Given the description of an element on the screen output the (x, y) to click on. 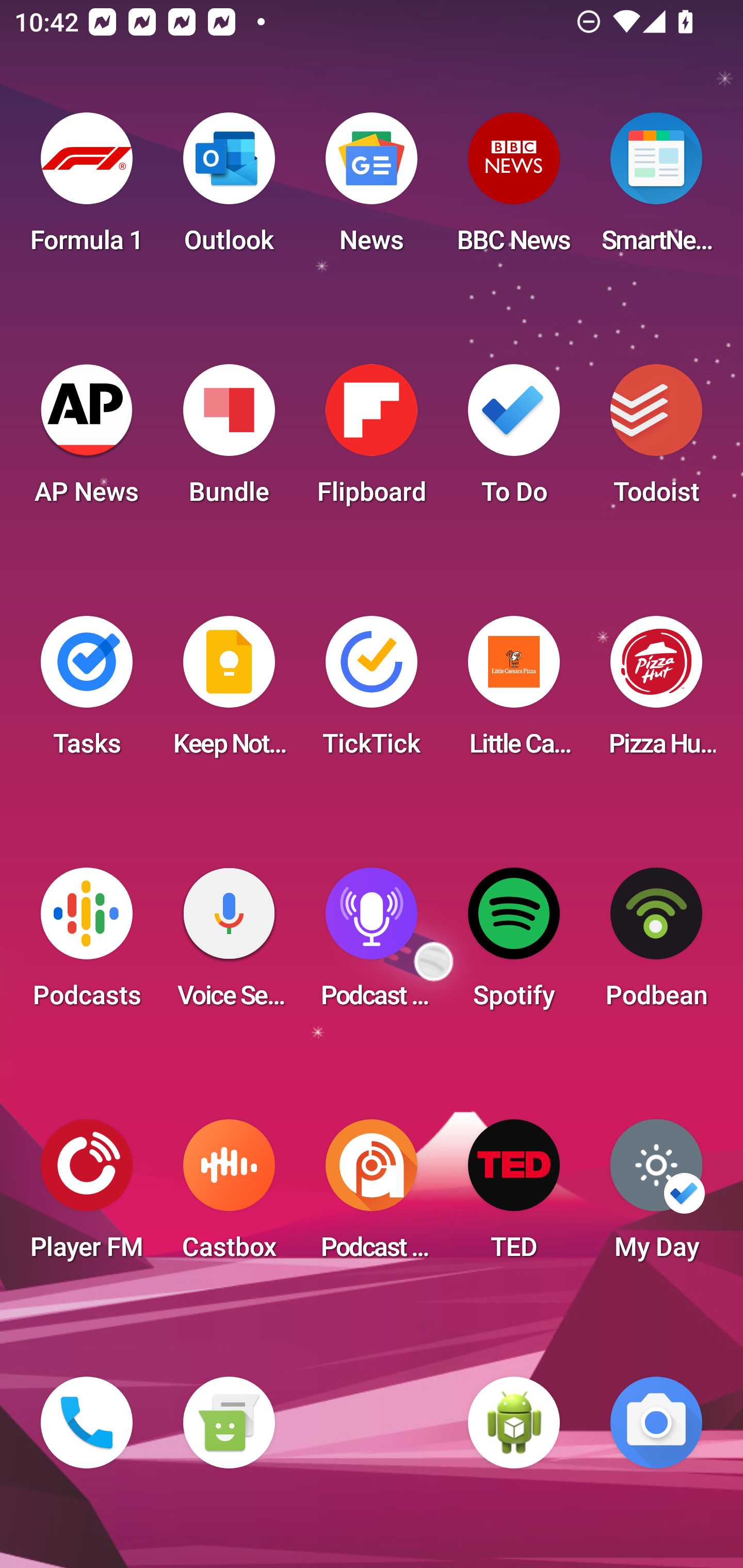
Formula 1 (86, 188)
Outlook (228, 188)
News (371, 188)
BBC News (513, 188)
SmartNews (656, 188)
AP News (86, 440)
Bundle (228, 440)
Flipboard (371, 440)
To Do (513, 440)
Todoist (656, 440)
Tasks (86, 692)
Keep Notes (228, 692)
TickTick (371, 692)
Little Caesars Pizza (513, 692)
Pizza Hut HK & Macau (656, 692)
Podcasts (86, 943)
Voice Search (228, 943)
Podcast Player (371, 943)
Spotify (513, 943)
Podbean (656, 943)
Player FM (86, 1195)
Castbox (228, 1195)
Podcast Addict (371, 1195)
TED (513, 1195)
My Day (656, 1195)
Phone (86, 1422)
Messaging (228, 1422)
WebView Browser Tester (513, 1422)
Camera (656, 1422)
